Given the description of an element on the screen output the (x, y) to click on. 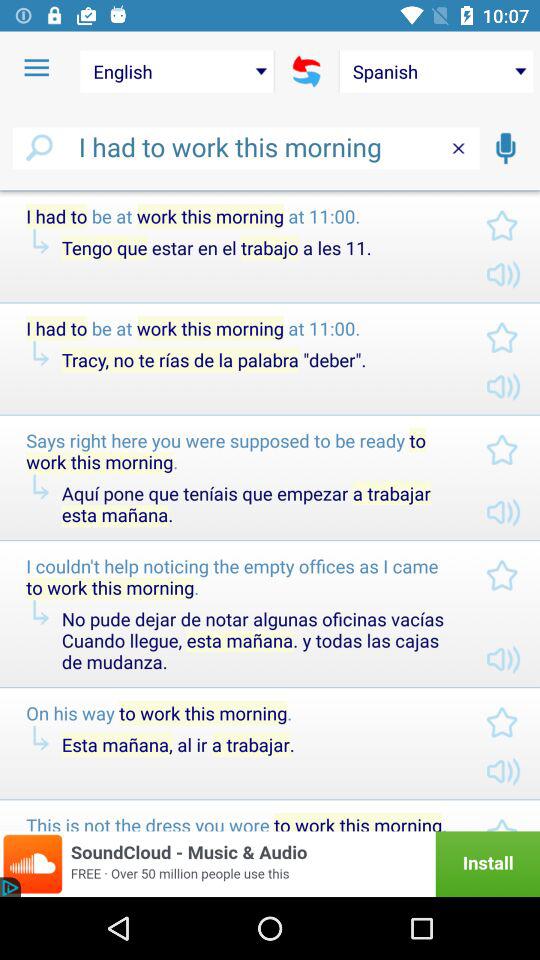
interchange original and translated language (306, 71)
